Given the description of an element on the screen output the (x, y) to click on. 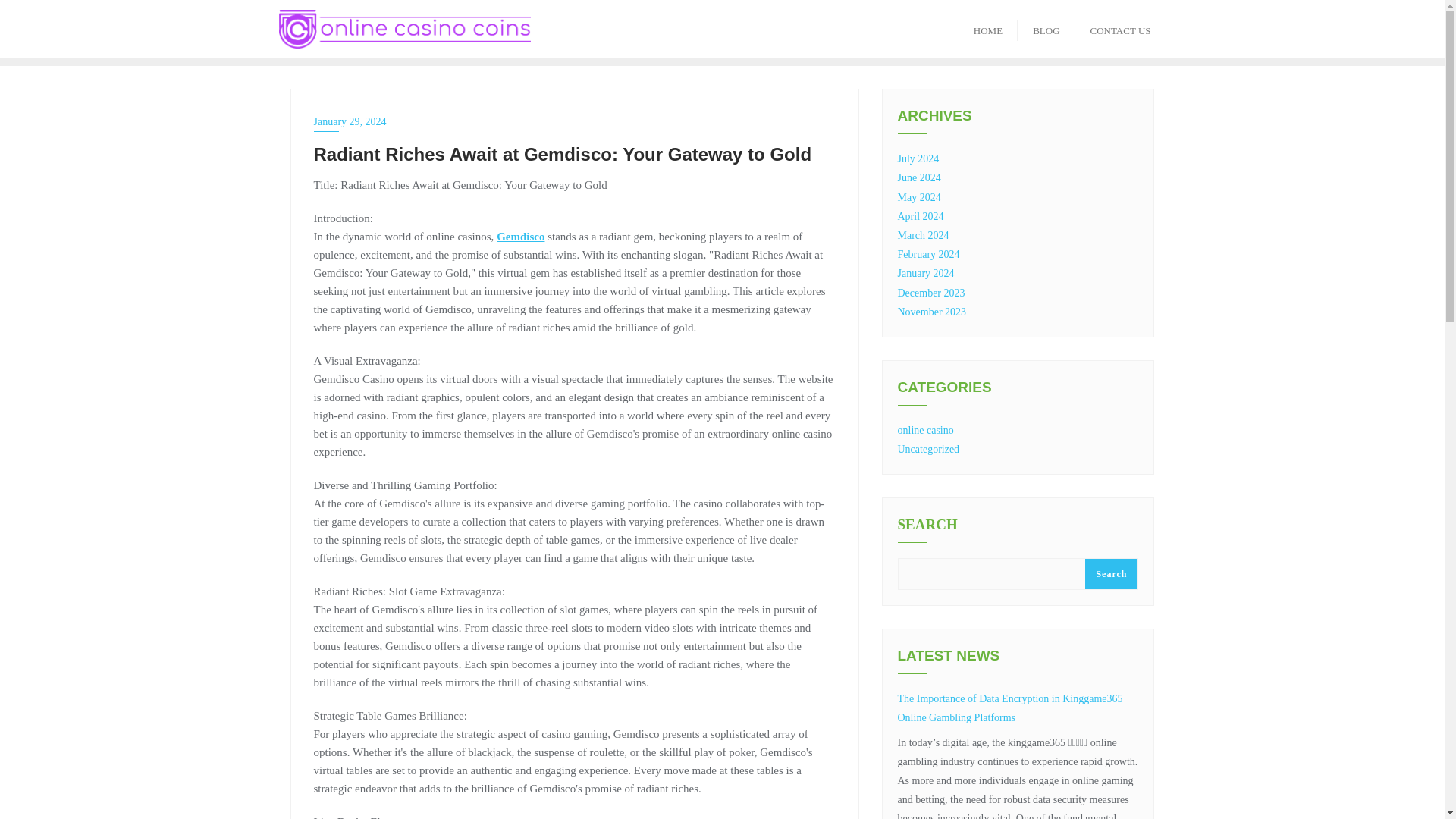
April 2024 (920, 215)
January 2024 (926, 273)
Gemdisco (520, 236)
July 2024 (918, 158)
HOME (987, 29)
CONTACT US (1120, 29)
March 2024 (923, 235)
Search (1110, 573)
December 2023 (931, 292)
BLOG (1045, 29)
June 2024 (919, 177)
Uncategorized (928, 449)
November 2023 (932, 311)
February 2024 (928, 254)
